Given the description of an element on the screen output the (x, y) to click on. 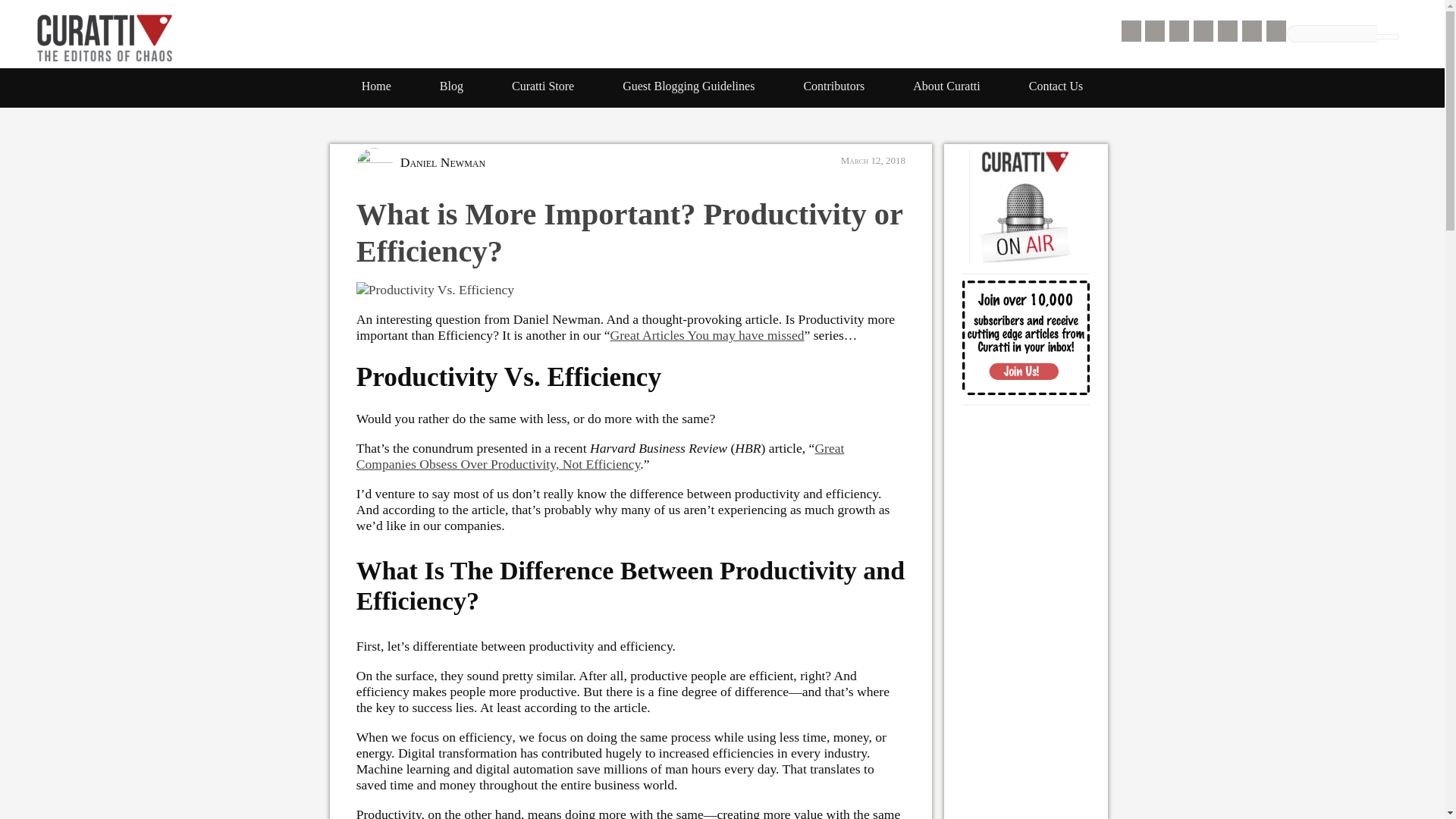
Blog (450, 85)
RSS Feed (1131, 30)
LinkedIn (1251, 30)
Guest Blogging Guidelines (688, 85)
About Curatti (946, 85)
Contributors (833, 85)
Contact Us (1056, 85)
Curatti Store (542, 85)
YouTube (1275, 30)
Great Companies Obsess Over Productivity, Not Efficiency (600, 461)
